Given the description of an element on the screen output the (x, y) to click on. 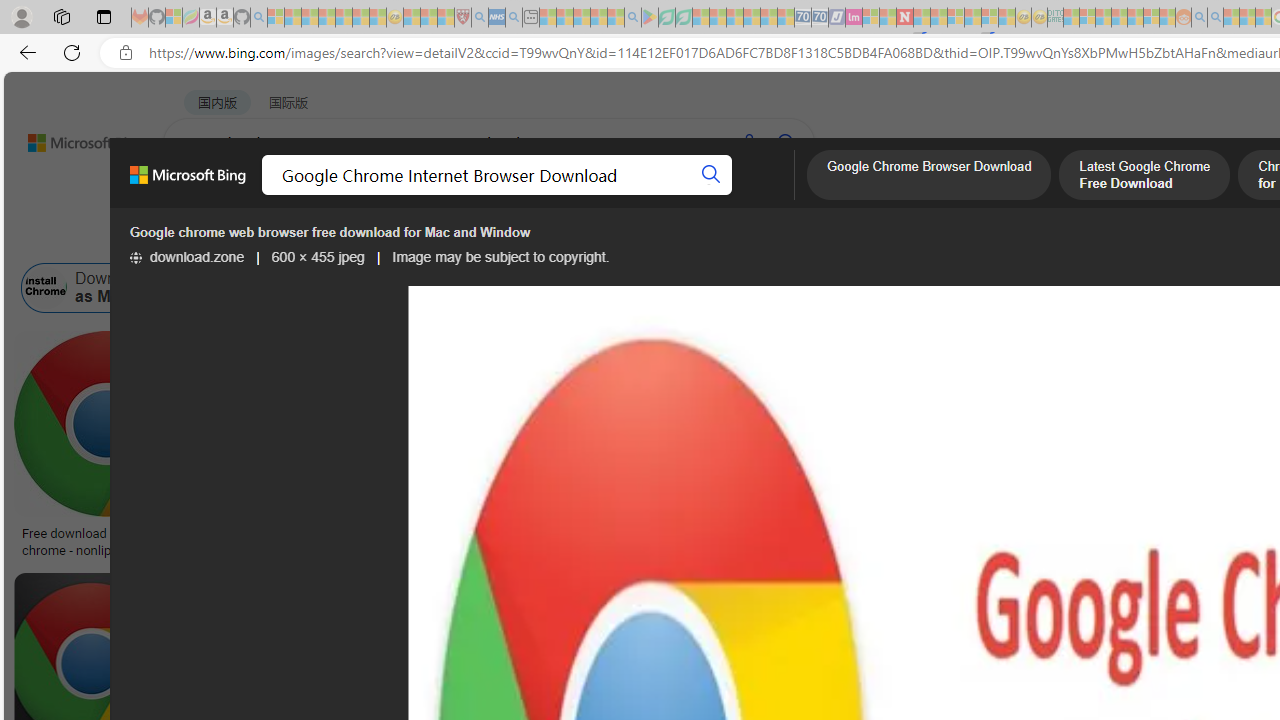
Google Chrome Search Browser (919, 287)
Download video online chrome - hresadish (332, 541)
ACADEMIC (635, 195)
Download Google Chrome as My Web Browser (45, 287)
Free download google chrome - nonlipat (106, 541)
